Given the description of an element on the screen output the (x, y) to click on. 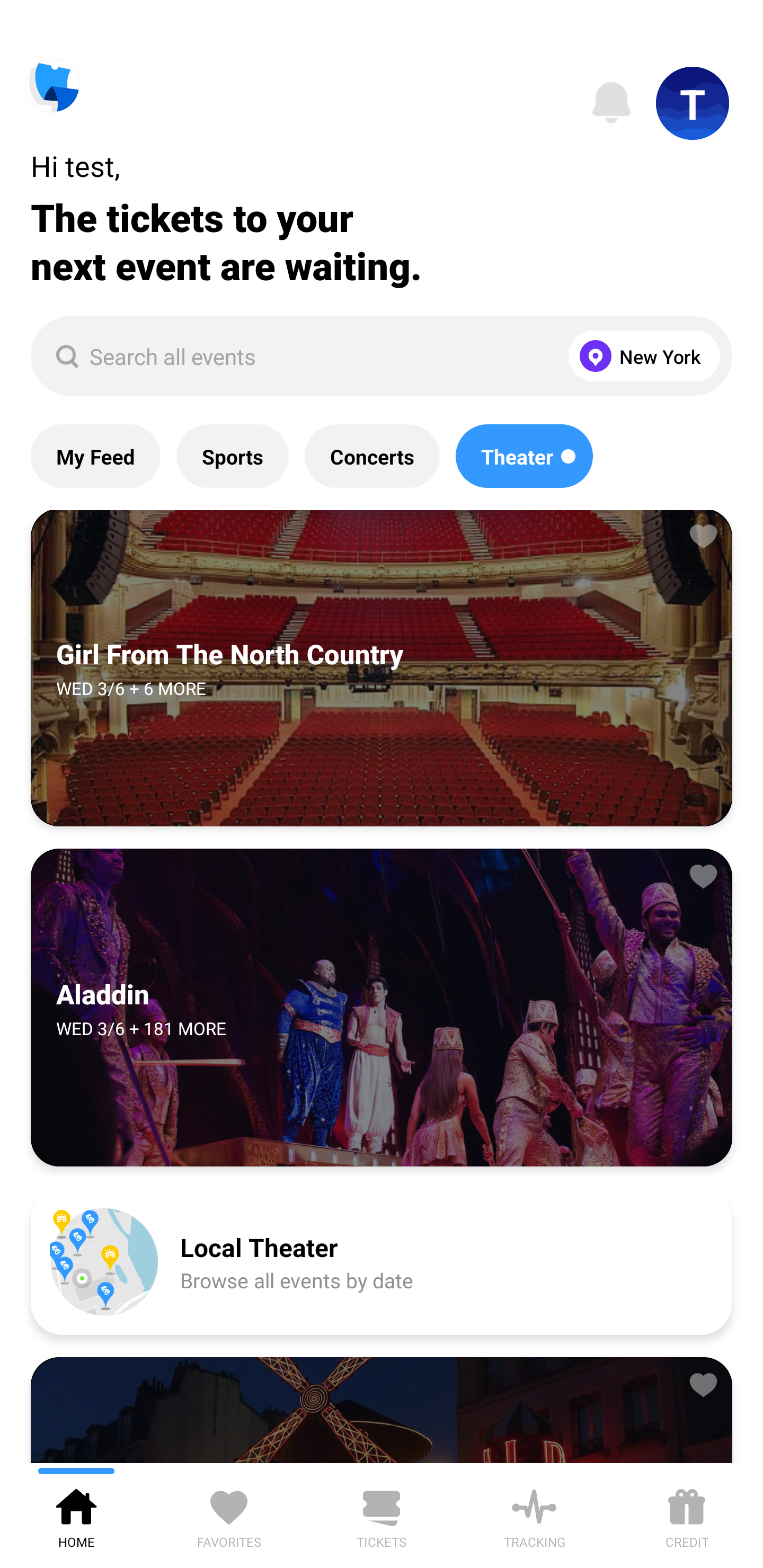
T (692, 103)
New York (640, 355)
My Feed (95, 455)
Sports (232, 455)
Concerts (371, 455)
Theater (523, 455)
HOME (76, 1515)
FAVORITES (228, 1515)
TICKETS (381, 1515)
TRACKING (533, 1515)
CREDIT (686, 1515)
